Given the description of an element on the screen output the (x, y) to click on. 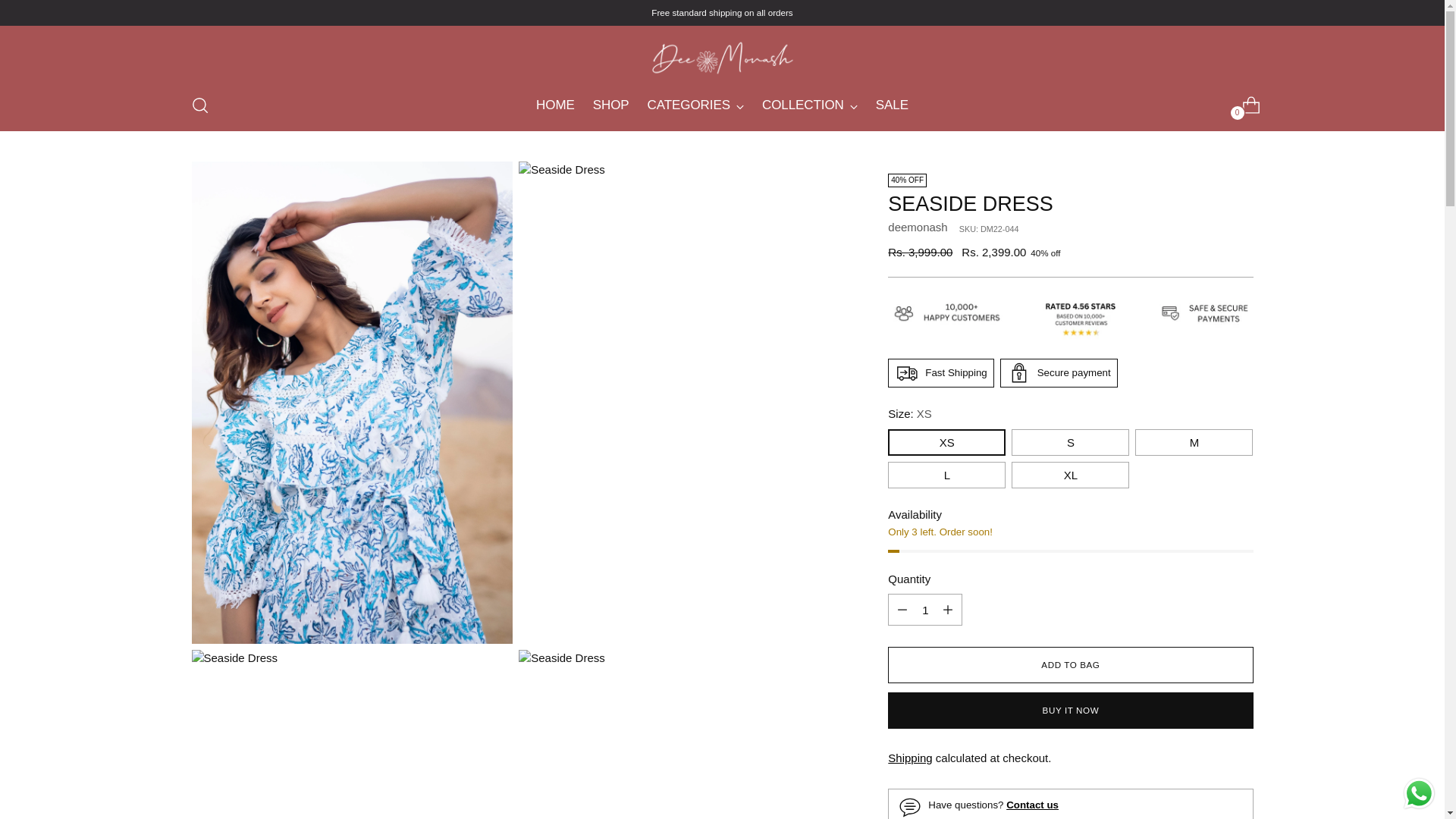
1 (925, 609)
deemonash (917, 226)
SALE (892, 105)
SHOP (610, 105)
CATEGORIES (721, 105)
HOME (695, 105)
0 (555, 105)
COLLECTION (1245, 105)
